Given the description of an element on the screen output the (x, y) to click on. 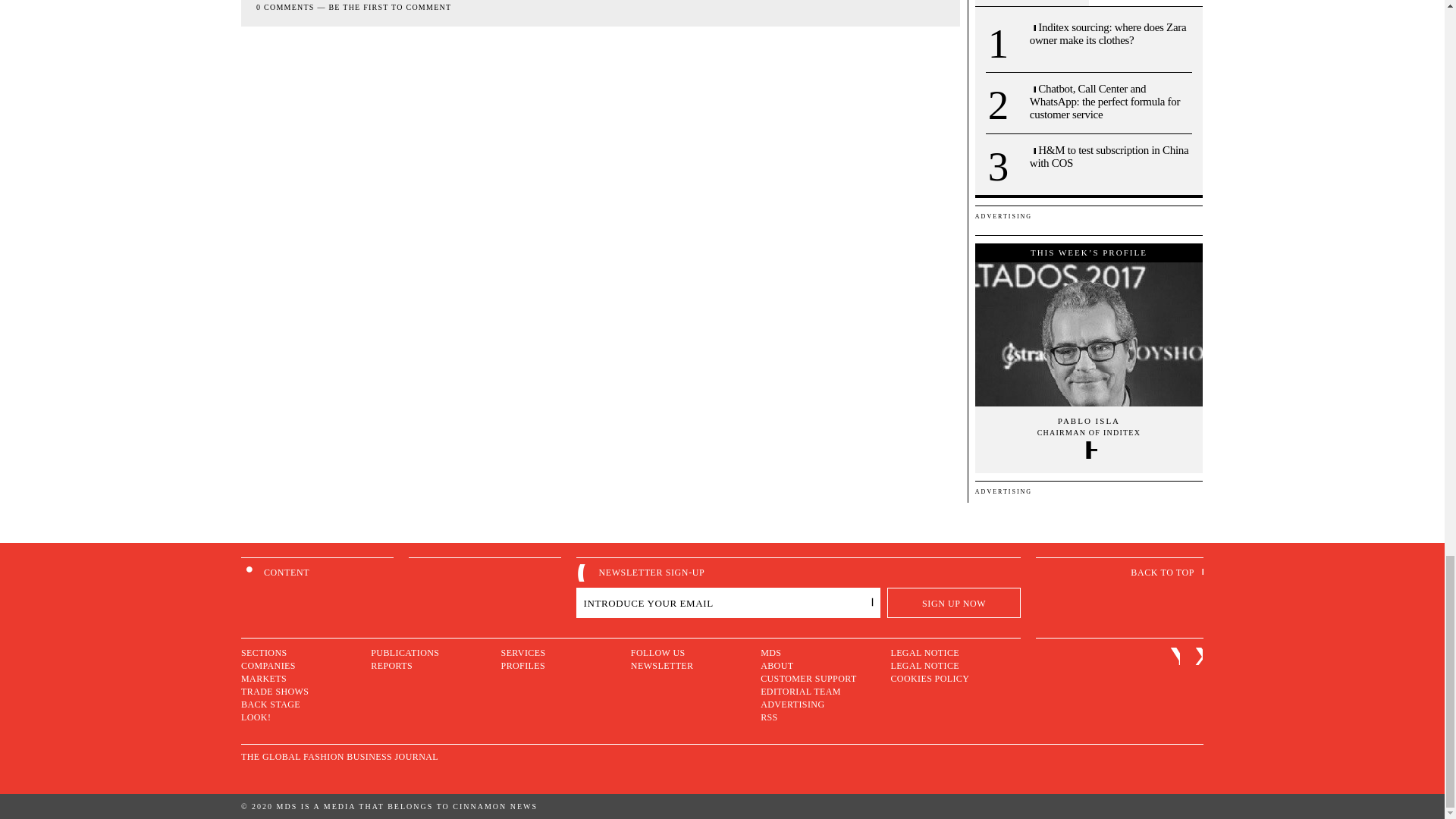
MOST READ (1032, 2)
MOST COMMENTED (1145, 2)
k Inditex sourcing: where does Zara owner make its clothes? (1110, 33)
